Given the description of an element on the screen output the (x, y) to click on. 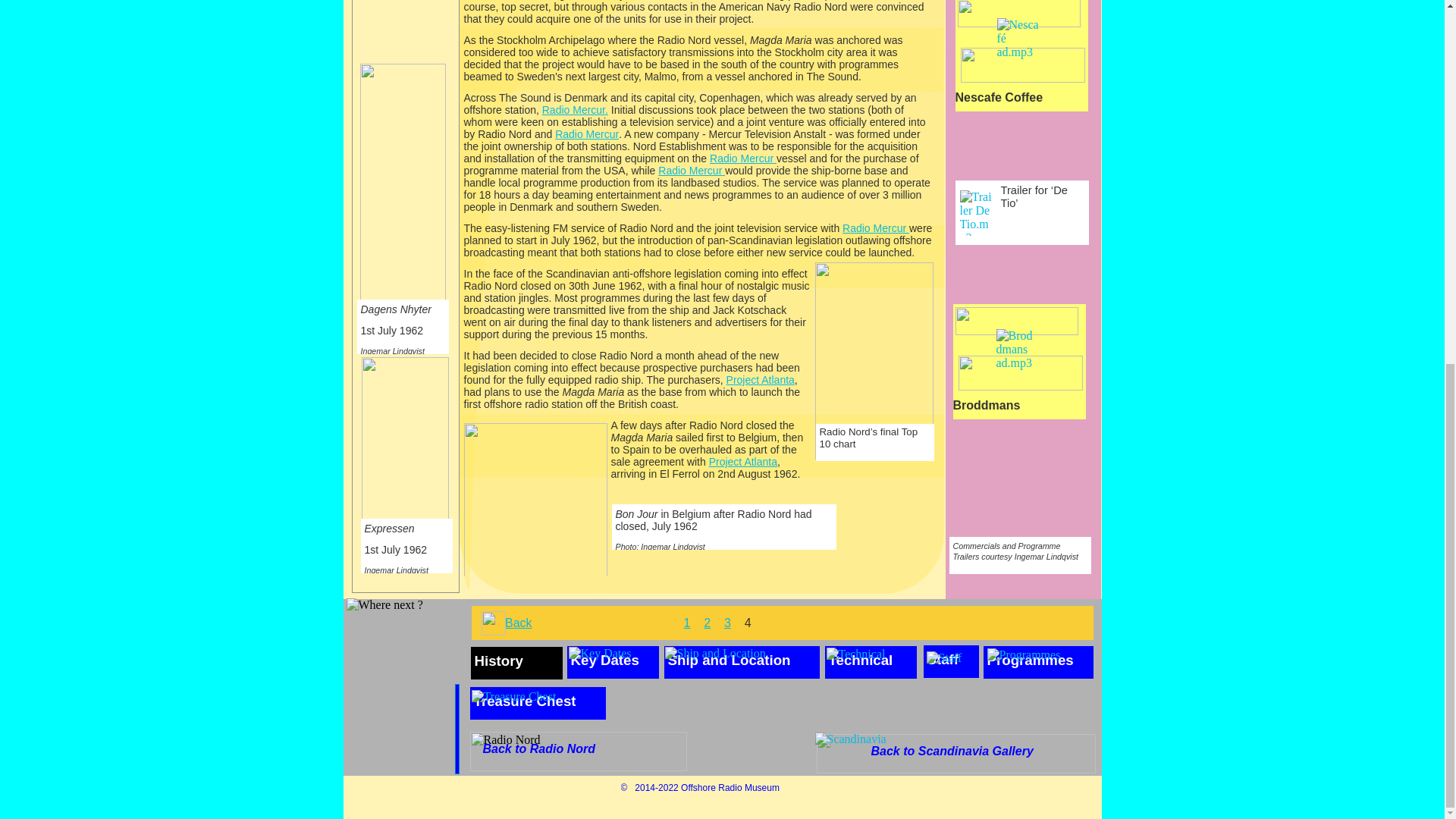
Project Atlanta (760, 379)
Radio Mercur (743, 158)
Radio Mercur. (574, 110)
Radio Mercur (875, 227)
Radio Mercur (586, 133)
Project Atlanta (743, 461)
Back (518, 622)
Radio Mercur (691, 170)
